Given the description of an element on the screen output the (x, y) to click on. 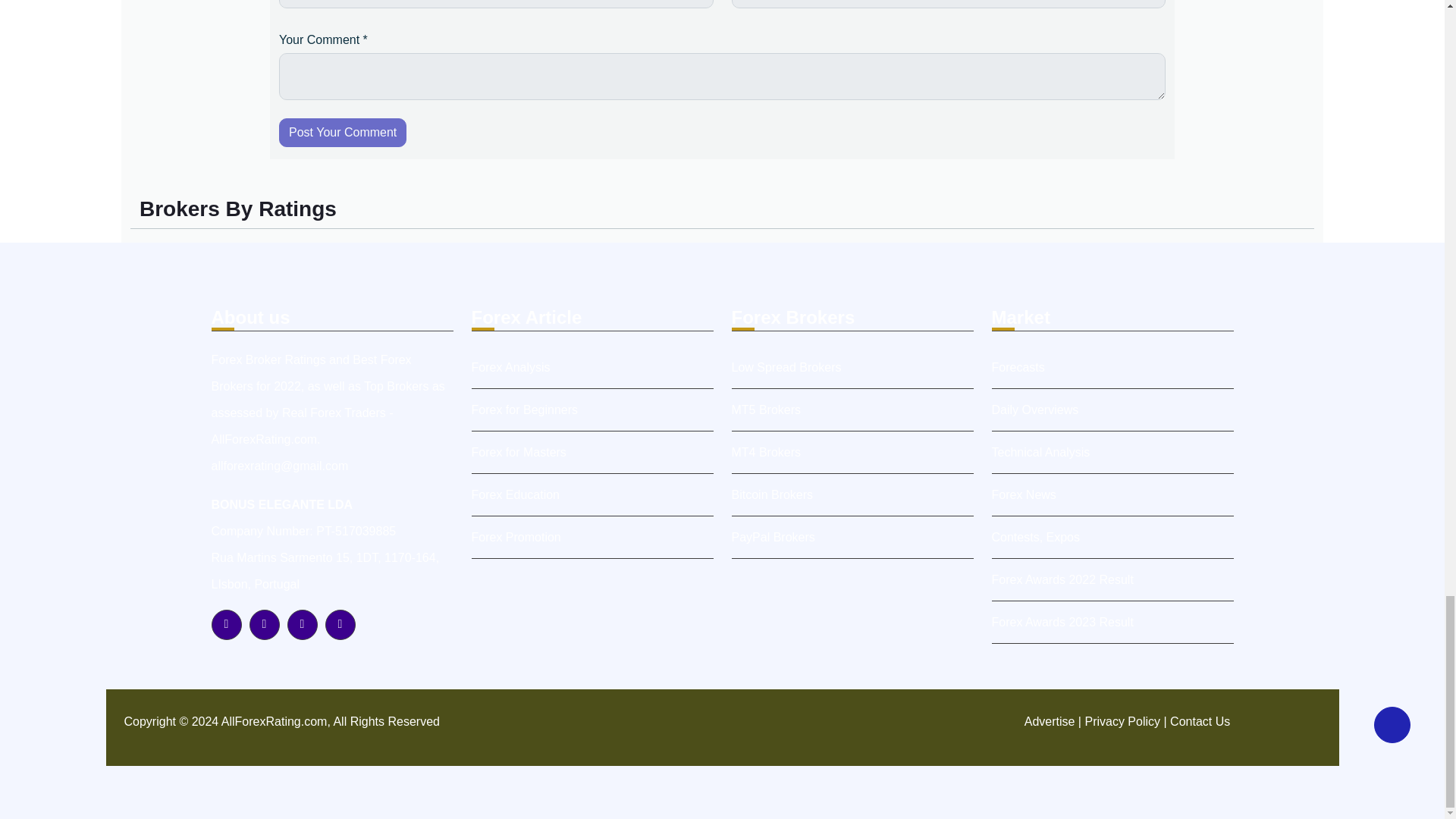
Post Your Comment (342, 132)
